Given the description of an element on the screen output the (x, y) to click on. 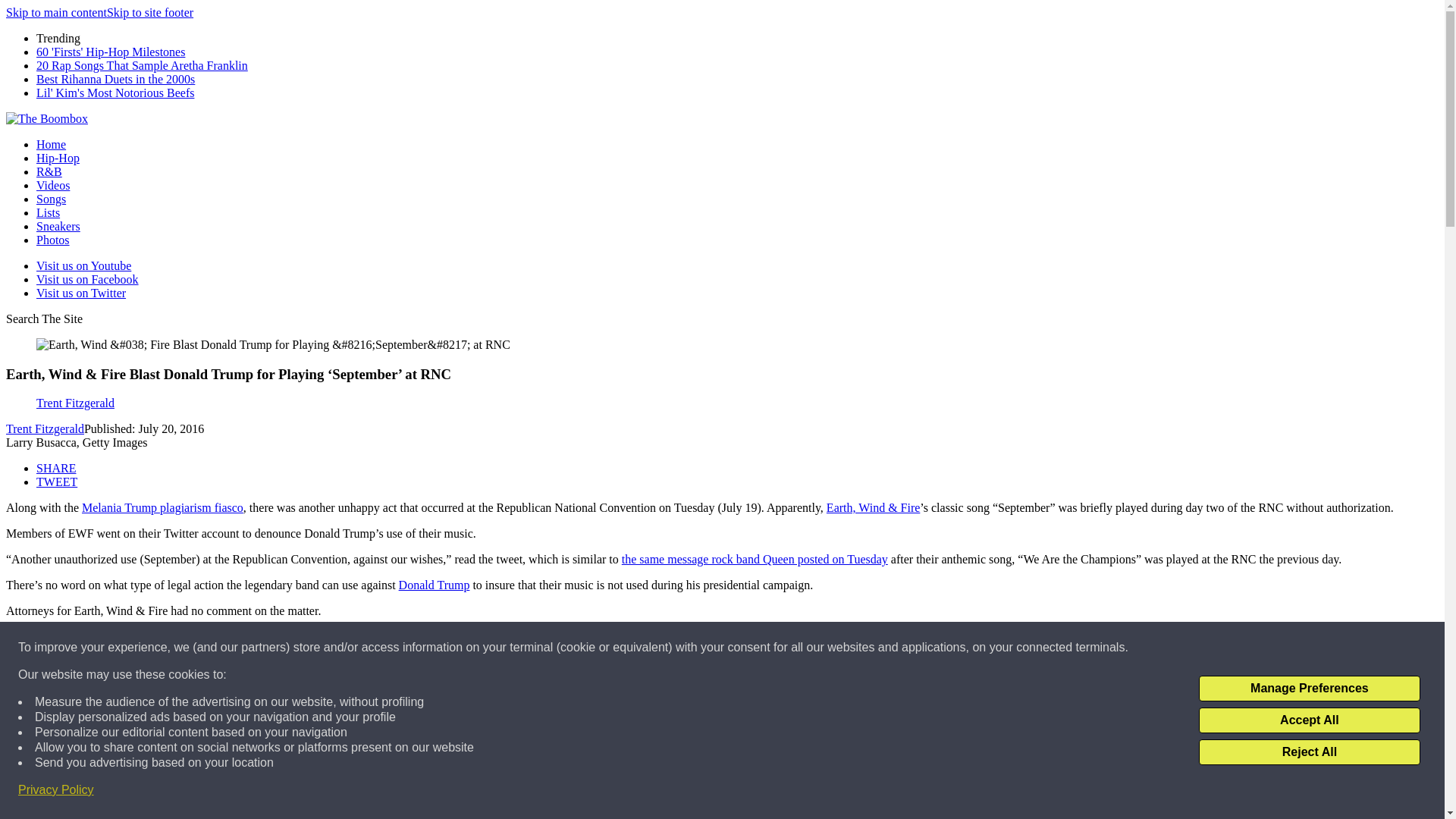
SHARE (55, 468)
Home (50, 144)
Melania Trump plagiarism fiasco (162, 507)
Visit us on Facebook (87, 278)
donald trump (102, 701)
60 'Firsts' Hip-Hop Milestones (110, 51)
Lists (47, 212)
Reject All (1309, 751)
Skip to main content (55, 11)
Privacy Policy (55, 789)
Manage Preferences (1309, 688)
Photos (52, 239)
Visit us on Youtube (83, 265)
Hip-Hop (58, 157)
TWEET (56, 481)
